Given the description of an element on the screen output the (x, y) to click on. 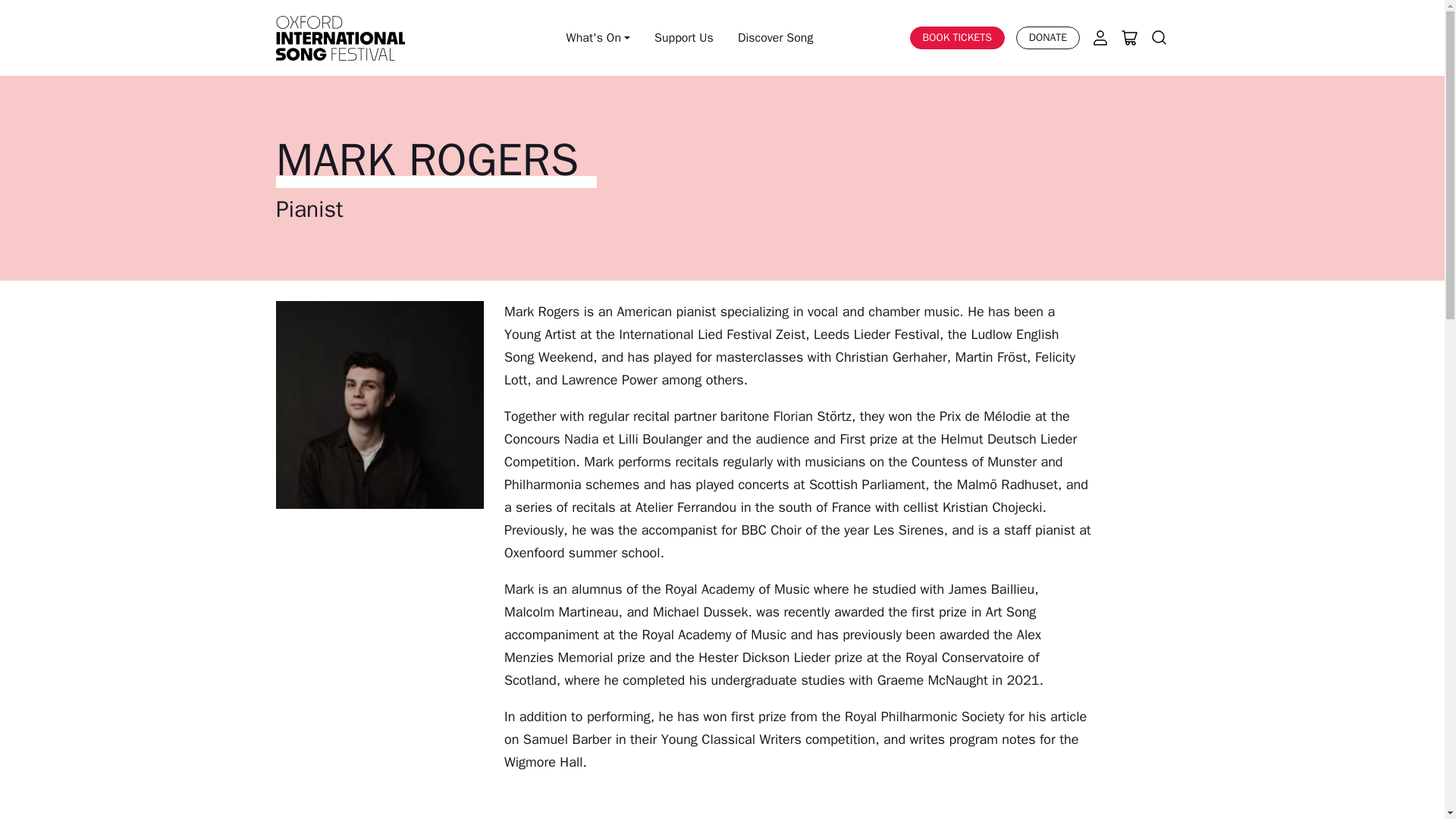
Support Us (683, 37)
Discover Song (775, 37)
DONATE (1048, 37)
Oxford International Song Festival (340, 37)
Search (1159, 37)
What's On (598, 37)
BOOK TICKETS (957, 37)
Account (1099, 37)
